Given the description of an element on the screen output the (x, y) to click on. 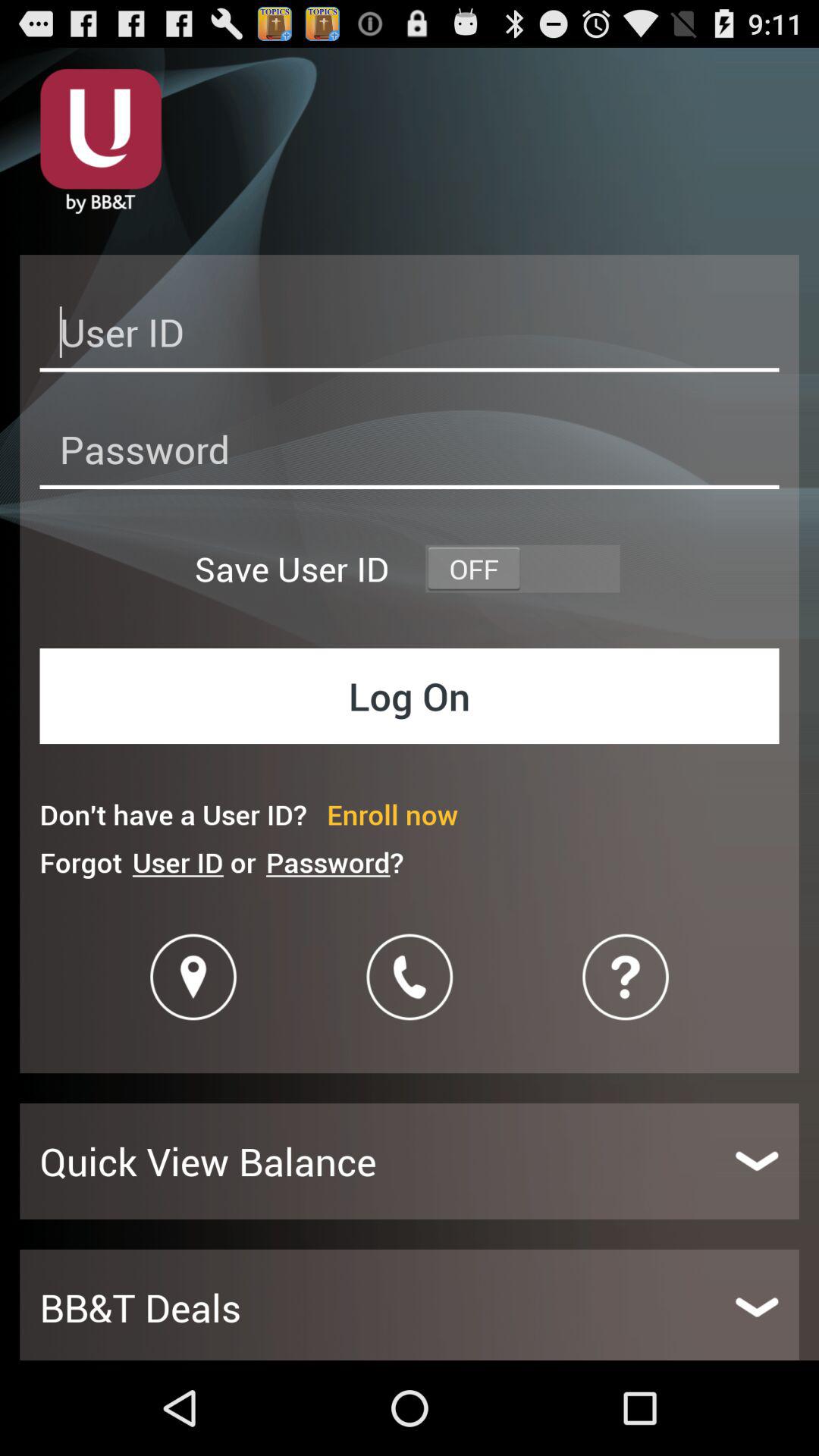
choose item below log on (392, 814)
